Given the description of an element on the screen output the (x, y) to click on. 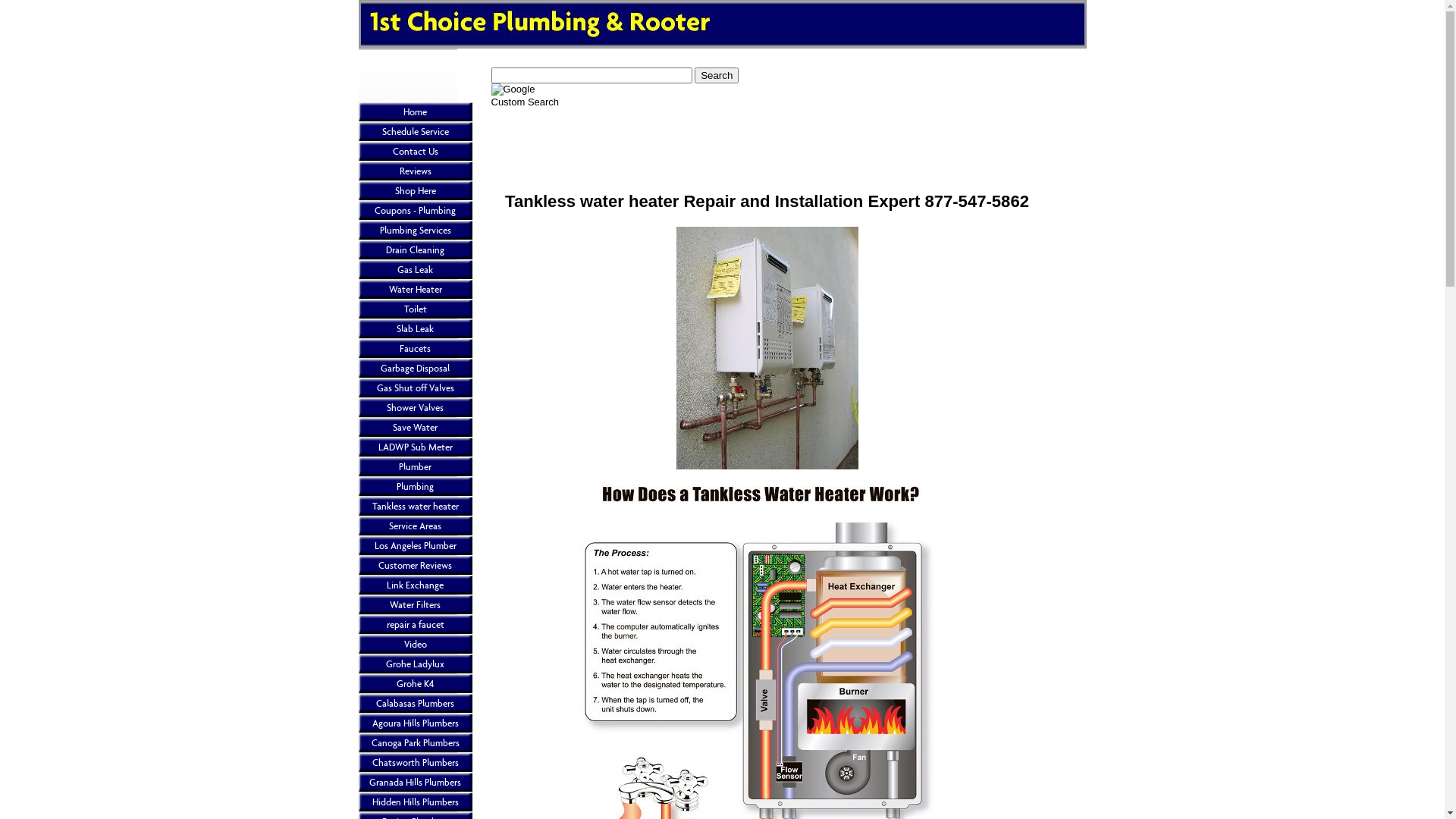
tankless water heater Element type: hover (767, 347)
Schedule Service Element type: text (414, 131)
Plumbing Services Element type: text (414, 230)
Garbage Disposal Element type: text (414, 368)
Slab Leak Element type: text (414, 328)
Calabasas Plumbers Element type: text (414, 703)
Gas Leak Element type: text (414, 269)
Chatsworth Plumbers Element type: text (414, 762)
Drain Cleaning Element type: text (414, 250)
Shop Here Element type: text (414, 190)
Customer Reviews Element type: text (414, 565)
Home Element type: text (414, 112)
Plumbing Element type: text (414, 486)
repair a faucet Element type: text (414, 624)
Plumber Element type: text (414, 466)
Grohe Ladylux Element type: text (414, 664)
Water Filters Element type: text (414, 605)
Faucets Element type: text (414, 348)
Advertisement Element type: hover (767, 143)
Shower Valves Element type: text (414, 407)
Coupons - Plumbing Element type: text (414, 210)
Granada Hills Plumbers Element type: text (414, 782)
Gas Shut off Valves Element type: text (414, 388)
Toilet Element type: text (414, 309)
Reviews Element type: text (414, 171)
Hidden Hills Plumbers Element type: text (414, 802)
LADWP Sub Meter Element type: text (414, 447)
Water Heater Element type: text (414, 289)
Link Exchange Element type: text (414, 585)
Video Element type: text (414, 644)
Agoura Hills Plumbers Element type: text (414, 723)
Canoga Park Plumbers Element type: text (414, 743)
Los Angeles Plumber Element type: text (414, 545)
Tankless water heater Element type: text (414, 506)
Contact Us Element type: text (414, 151)
Search Element type: text (716, 75)
Grohe K4 Element type: text (414, 683)
Service Areas Element type: text (414, 526)
Save Water Element type: text (414, 427)
